Given the description of an element on the screen output the (x, y) to click on. 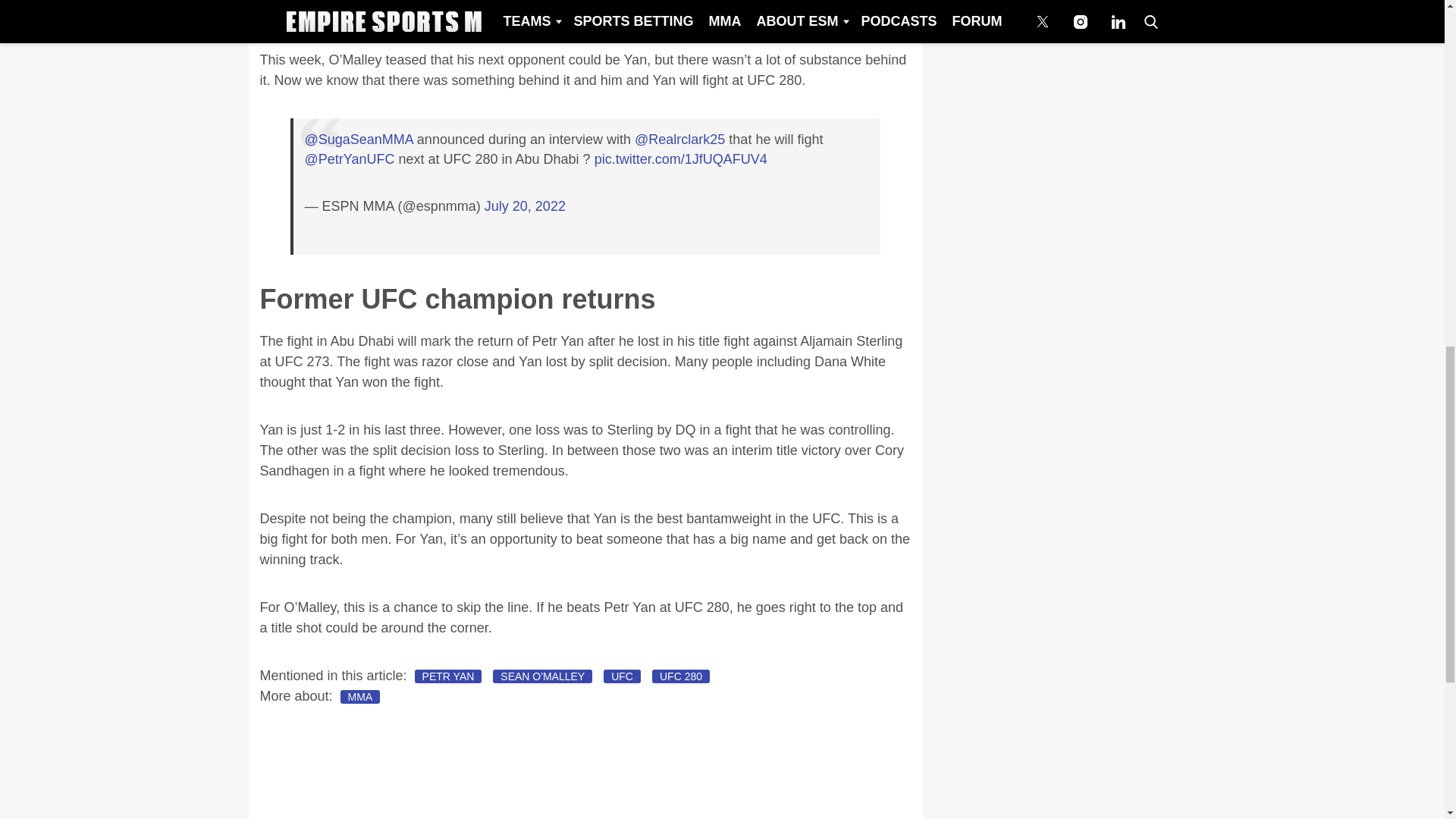
SEAN O'MALLEY (542, 676)
PETR YAN (447, 676)
July 20, 2022 (525, 206)
